Given the description of an element on the screen output the (x, y) to click on. 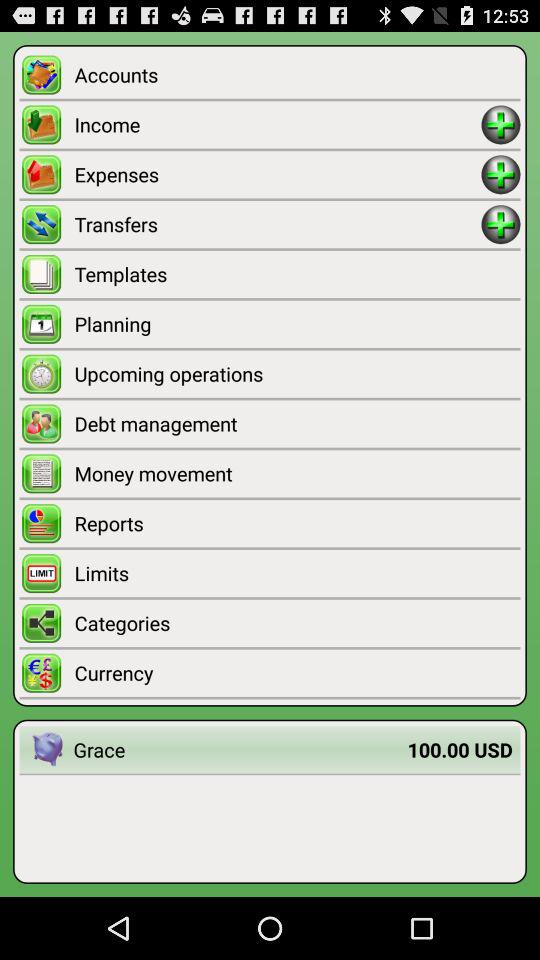
tap the planning item (297, 323)
